Given the description of an element on the screen output the (x, y) to click on. 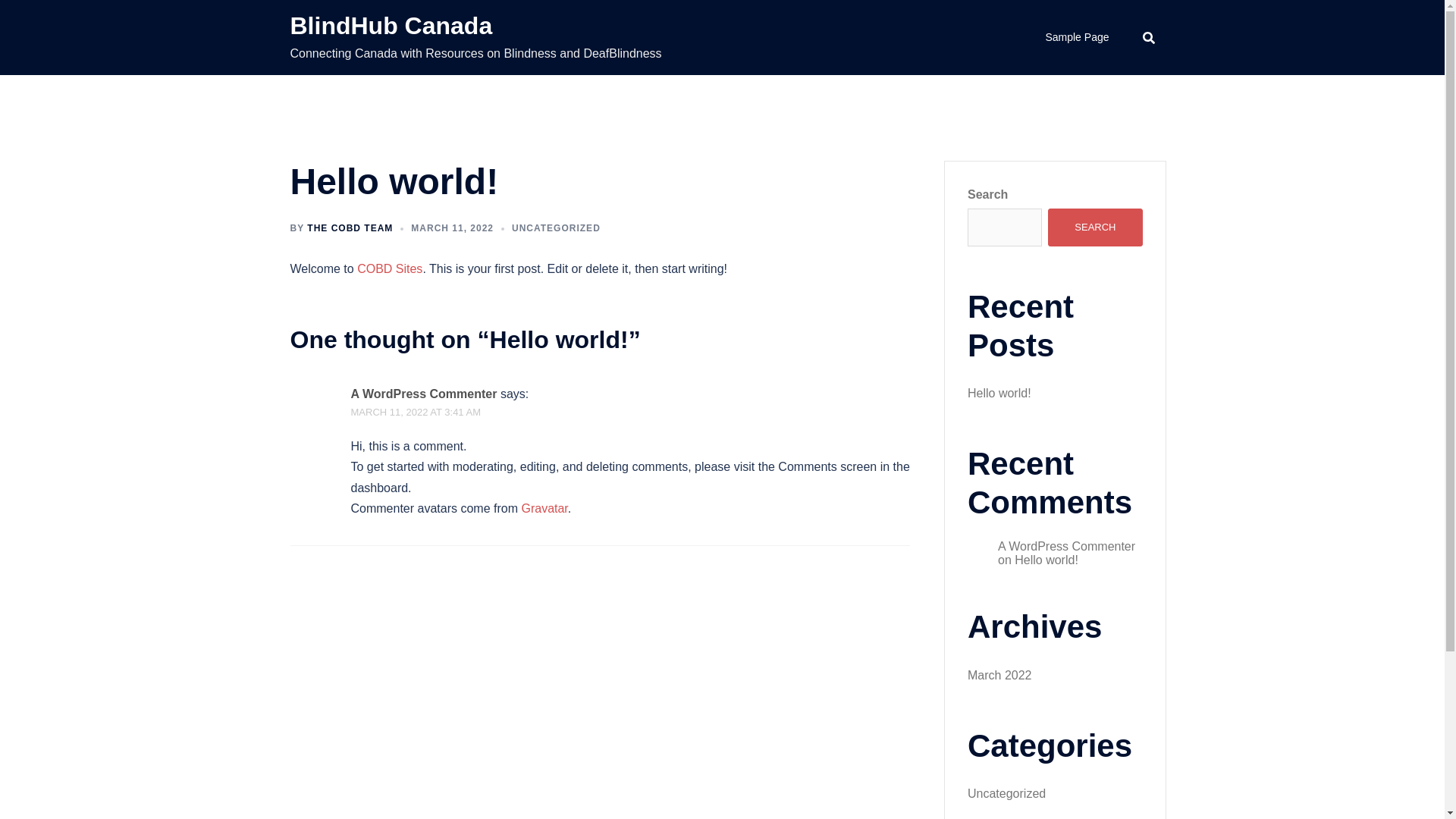
COBD Sites Element type: text (389, 268)
Gravatar Element type: text (543, 508)
SEARCH Element type: text (1095, 227)
A WordPress Commenter Element type: text (423, 393)
March 2022 Element type: text (999, 674)
UNCATEGORIZED Element type: text (555, 227)
MARCH 11, 2022 Element type: text (452, 227)
Hello world! Element type: text (999, 392)
Hello world! Element type: text (1046, 559)
THE COBD TEAM Element type: text (349, 227)
A WordPress Commenter Element type: text (1066, 545)
BlindHub Canada Element type: text (390, 25)
MARCH 11, 2022 AT 3:41 AM Element type: text (415, 411)
Uncategorized Element type: text (1006, 793)
Sample Page Element type: text (1076, 37)
